Given the description of an element on the screen output the (x, y) to click on. 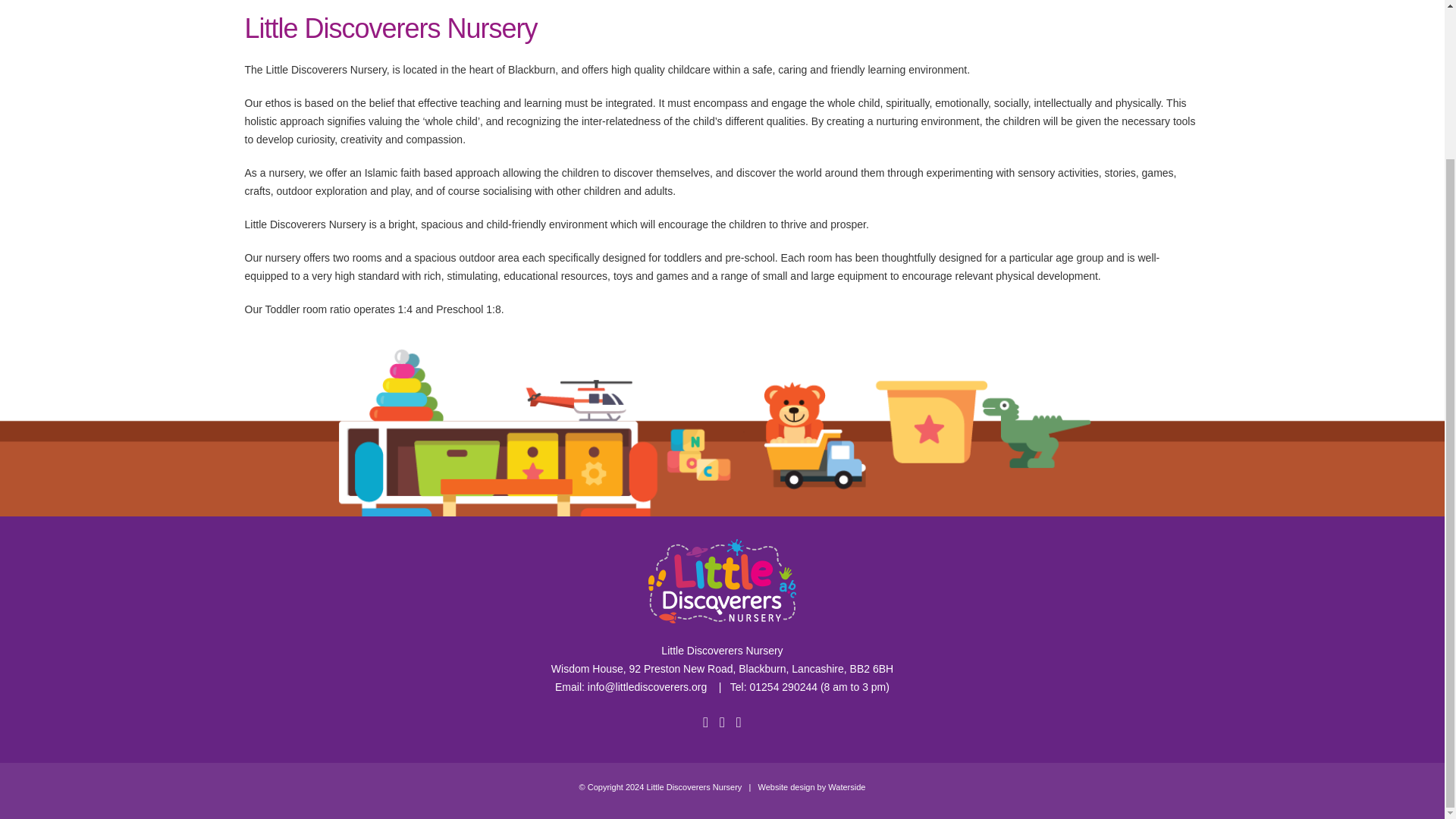
Little Discoverers Nursery (693, 786)
Website design (786, 786)
